Given the description of an element on the screen output the (x, y) to click on. 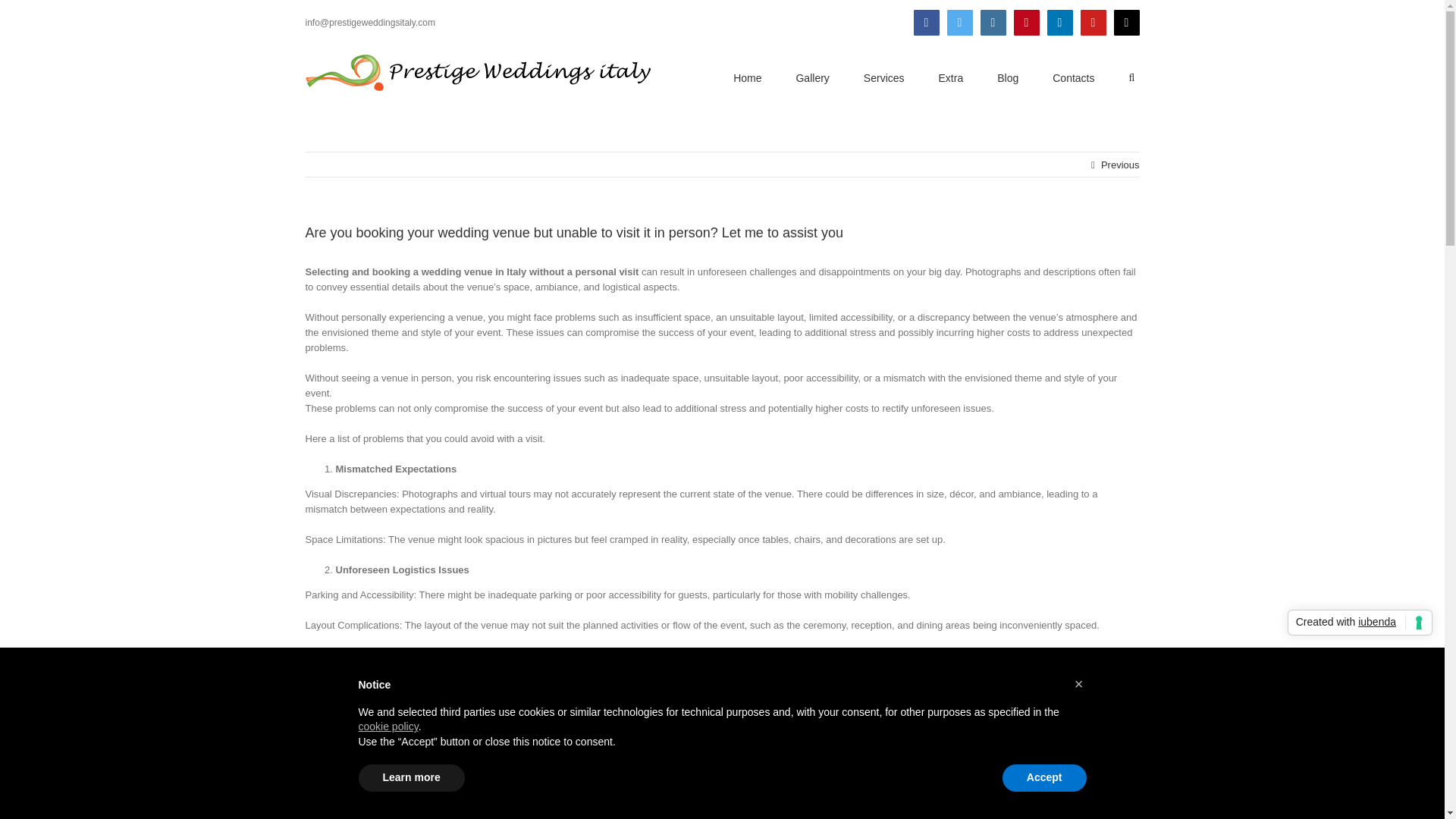
Twitter (959, 22)
LinkedIn (1058, 22)
Instagram (992, 22)
Email (1125, 22)
Email (1125, 22)
Twitter (959, 22)
Facebook (925, 22)
Pinterest (1026, 22)
YouTube (1092, 22)
Previous (1120, 165)
